Given the description of an element on the screen output the (x, y) to click on. 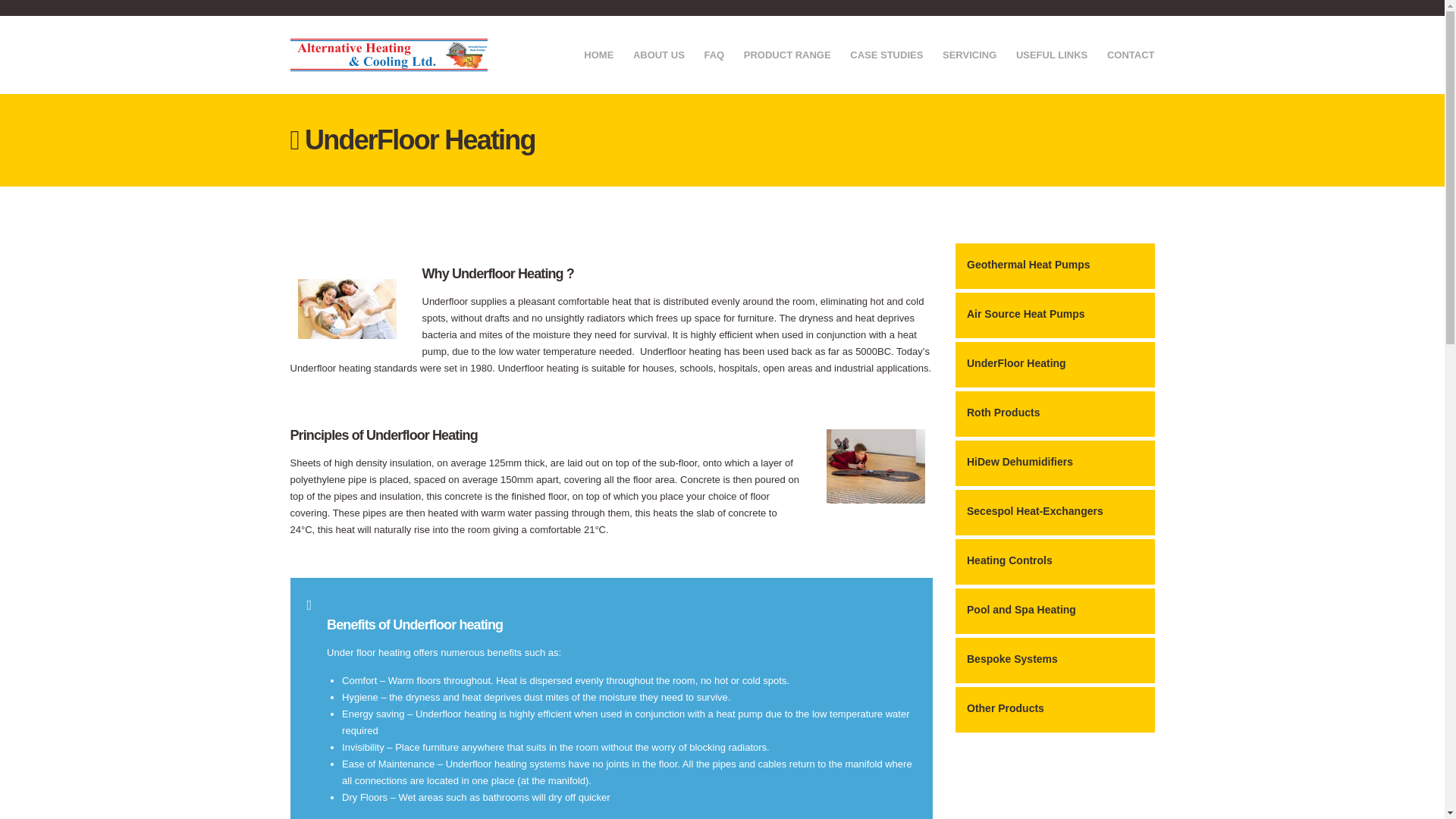
Pool and Spa Heating (1054, 610)
PRODUCT RANGE (787, 56)
Secespol Heat-Exchangers (1054, 512)
Air Source Heat Pumps (1054, 315)
CONTACT (1130, 56)
SERVICING (968, 56)
UnderFloor Heating (1054, 364)
Geothermal Heat Pumps (1054, 266)
HiDew Dehumidifiers (1054, 463)
underfloor (875, 466)
